Given the description of an element on the screen output the (x, y) to click on. 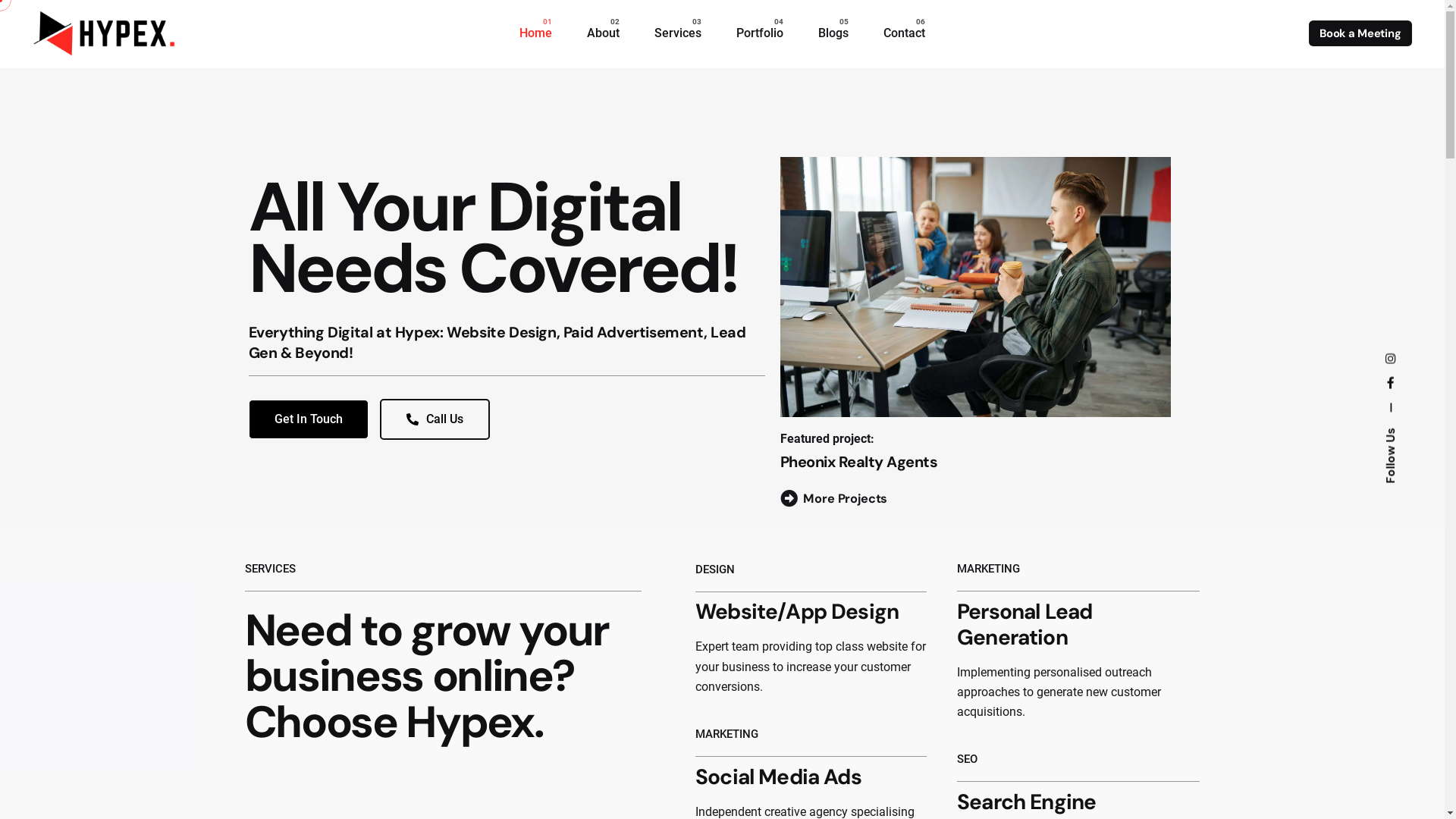
Social Media Ads Element type: text (778, 776)
Portfolio Element type: text (759, 33)
Blogs Element type: text (833, 33)
Personal Lead Generation Element type: text (1024, 624)
Book a Meeting Element type: text (1360, 33)
Home Element type: text (535, 33)
About Element type: text (603, 33)
Services Element type: text (677, 33)
More Projects Element type: text (834, 498)
Pheonix Realty Agents Element type: text (859, 461)
Contact Element type: text (904, 33)
Get In Touch Element type: text (308, 419)
Call Us Element type: text (434, 418)
Website/App Design Element type: text (796, 611)
